Given the description of an element on the screen output the (x, y) to click on. 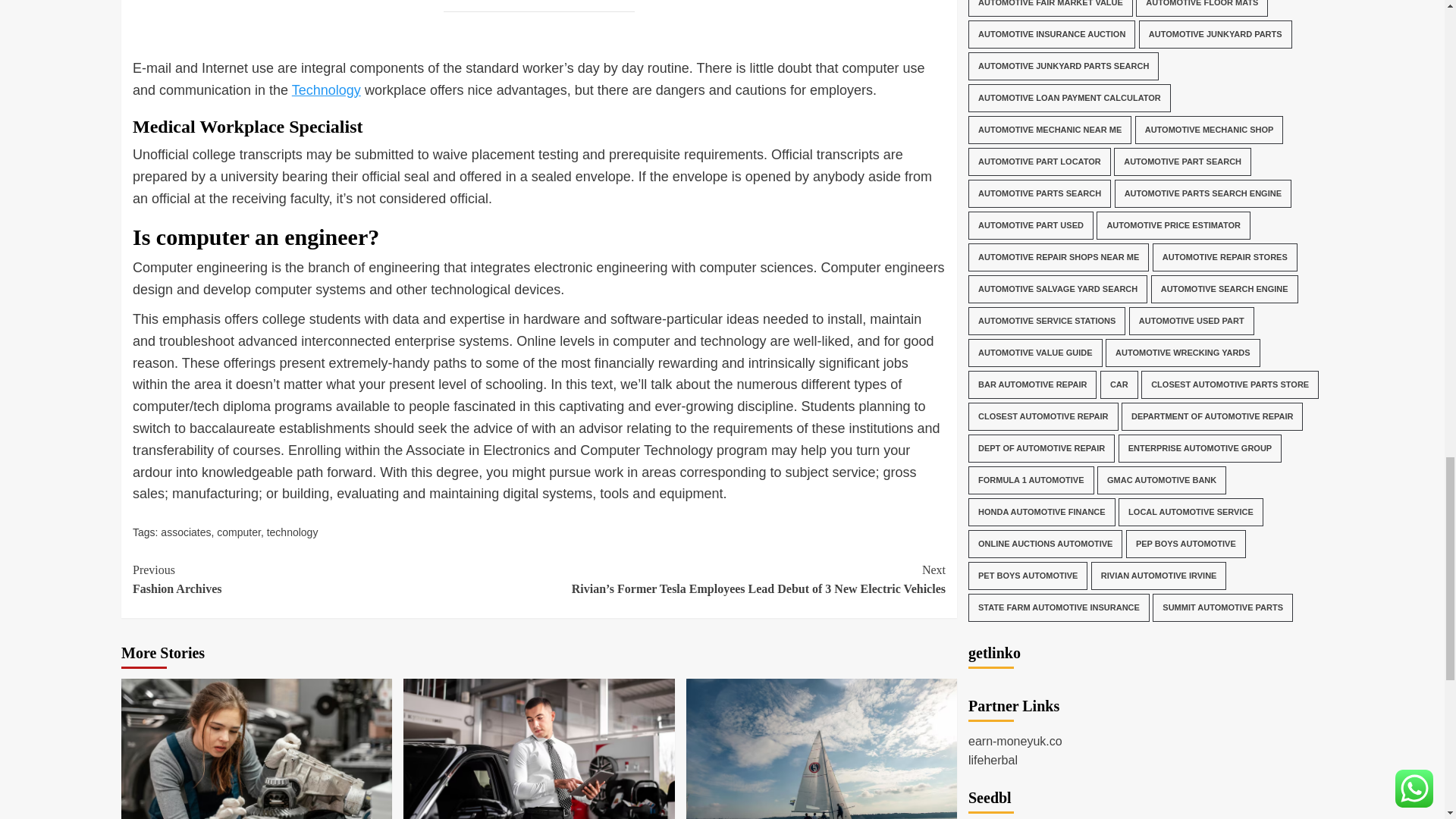
associates (185, 532)
Case Study: CARQUEST Auto Parts (255, 748)
Olympic Sailing (820, 748)
Technology (326, 89)
